Given the description of an element on the screen output the (x, y) to click on. 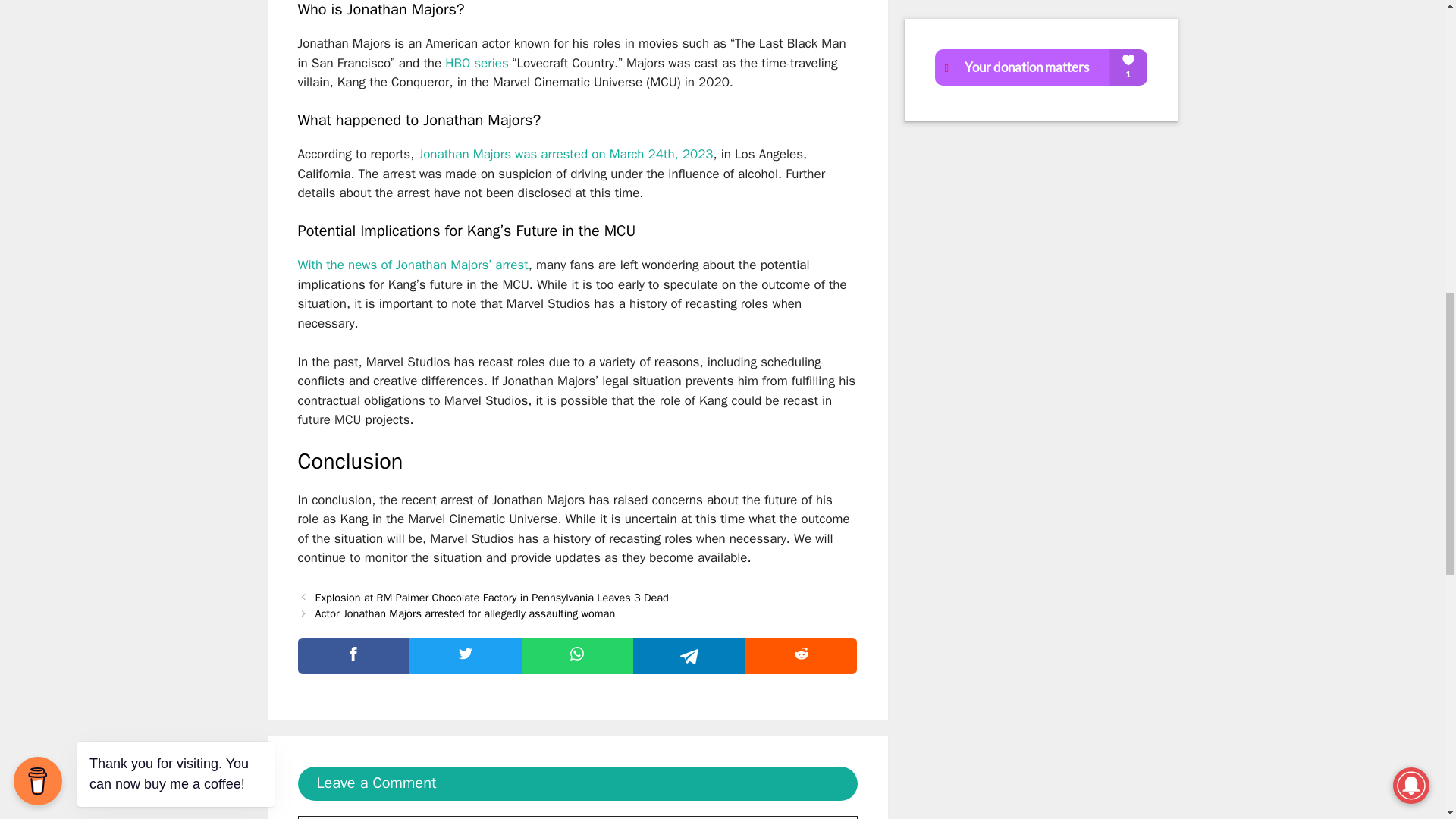
Jonathan Majors was arrested on March 24th, 2023 (565, 154)
HBO series (474, 63)
